Given the description of an element on the screen output the (x, y) to click on. 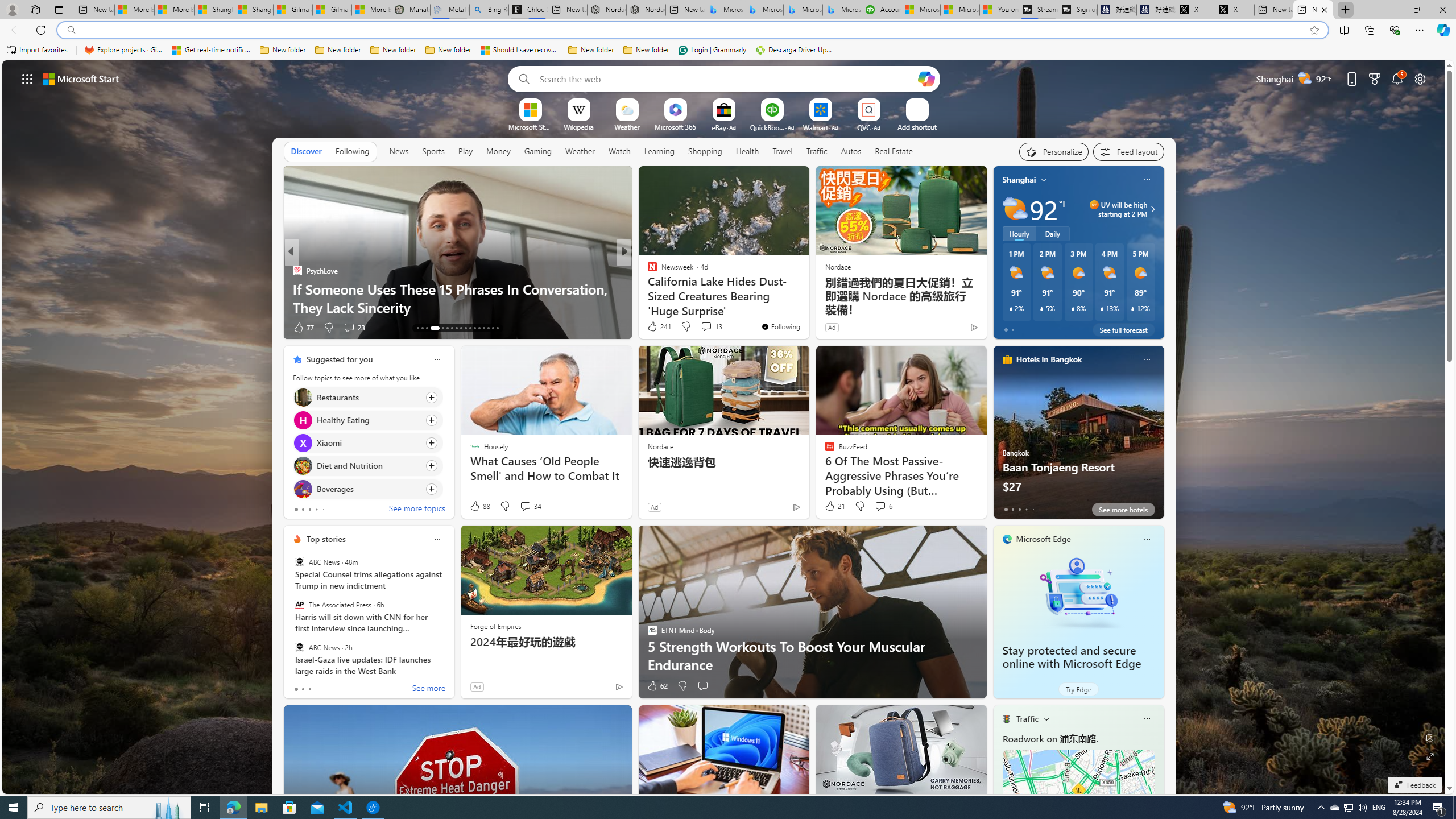
CBS News (Video) (647, 270)
tab-3 (1025, 509)
View comments 49 Comment (707, 327)
Daily (1052, 233)
View comments 42 Comment (704, 327)
6 Like (651, 327)
